Given the description of an element on the screen output the (x, y) to click on. 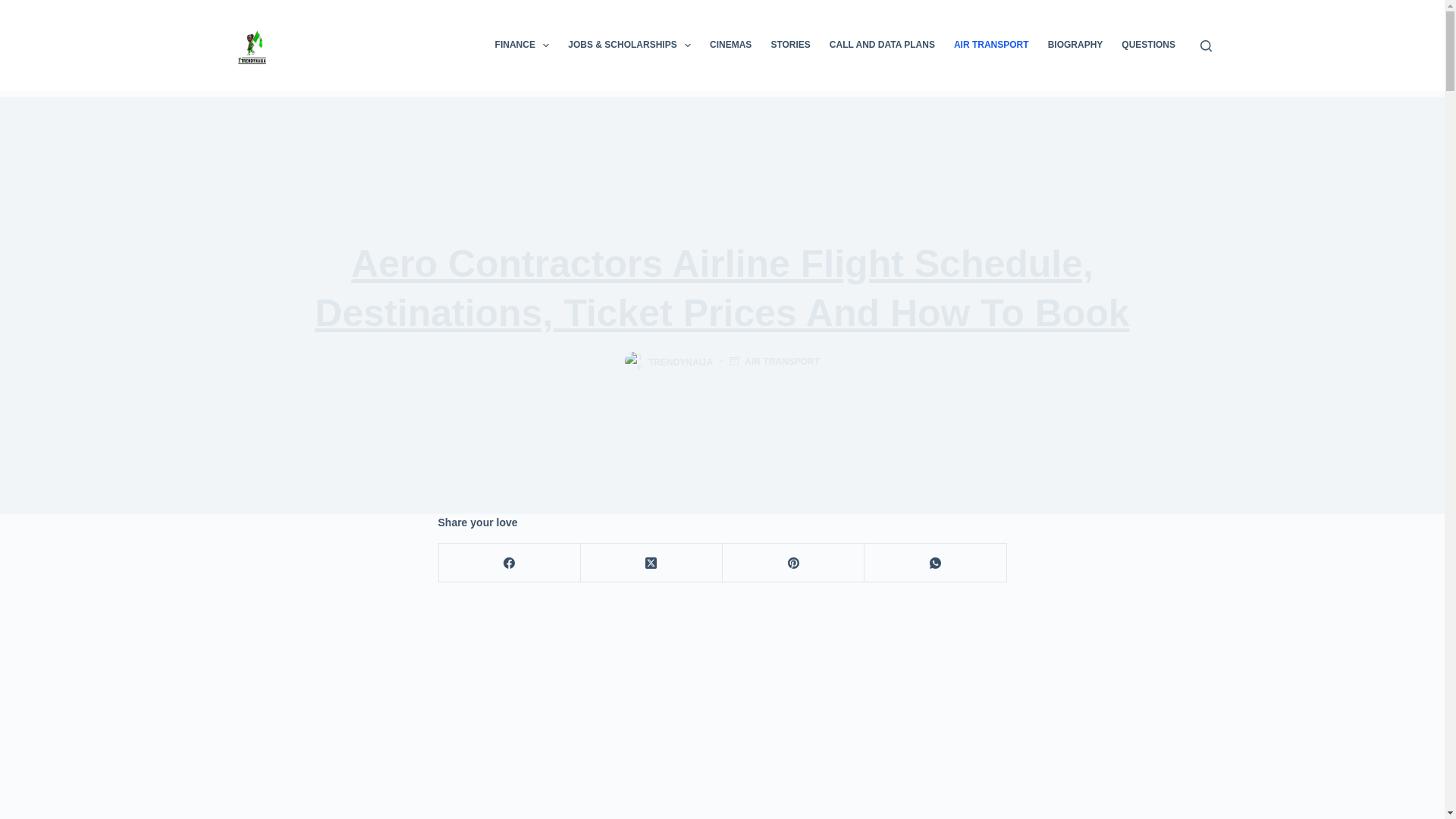
CINEMAS (730, 45)
BIOGRAPHY (1075, 45)
QUESTIONS (1148, 45)
STORIES (790, 45)
AIR TRANSPORT (990, 45)
AIR TRANSPORT (781, 361)
CALL AND DATA PLANS (881, 45)
Skip to content (15, 7)
Posts by TrendyNaija (680, 361)
FINANCE (521, 45)
TRENDYNAIJA (680, 361)
